Given the description of an element on the screen output the (x, y) to click on. 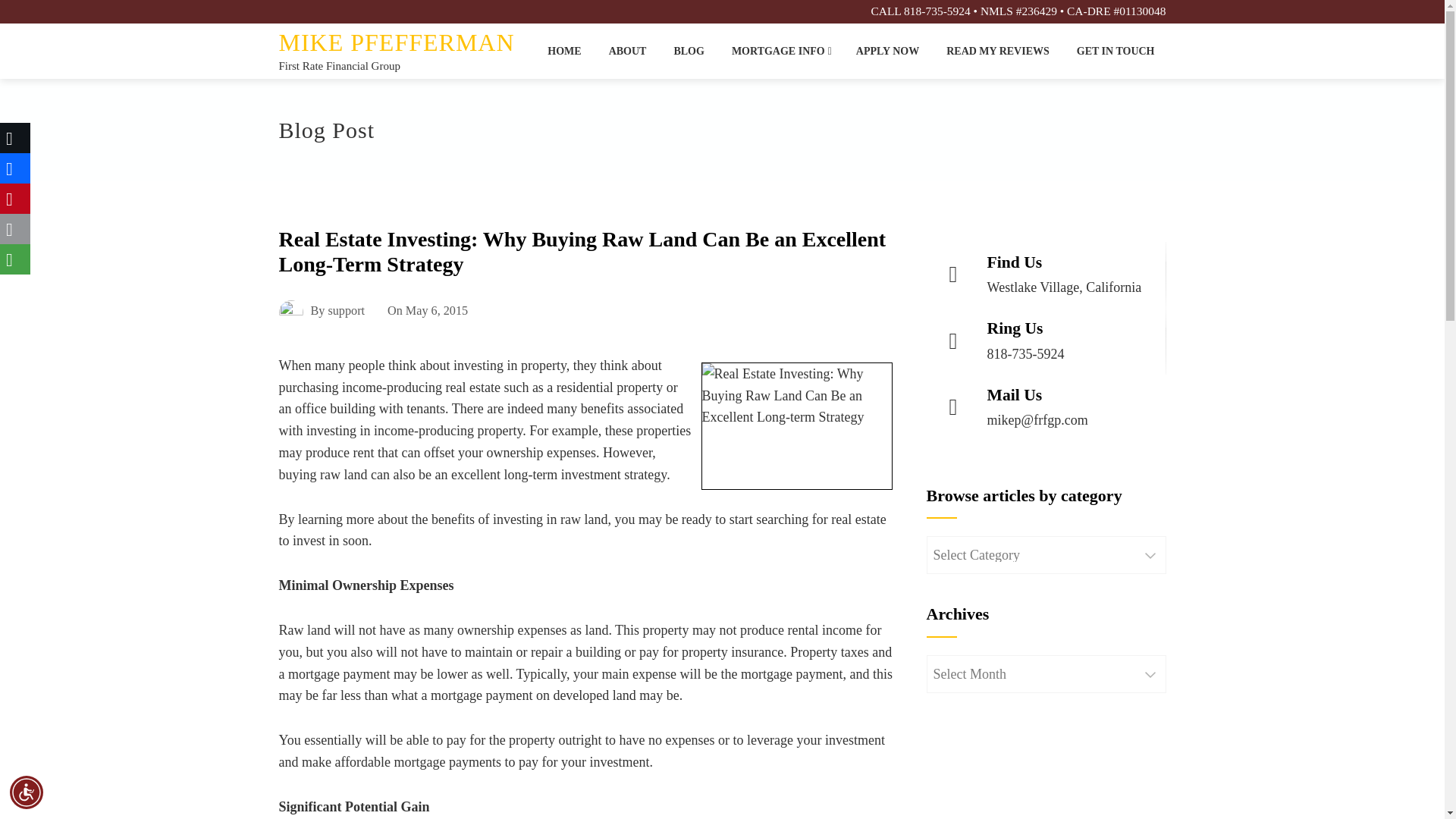
READ MY REVIEWS (997, 50)
Facebook (15, 168)
MIKE PFEFFERMAN (397, 42)
APPLY NOW (887, 50)
GET IN TOUCH (1115, 50)
More Options (15, 259)
Pinterest (15, 198)
ABOUT (627, 50)
Email This (15, 228)
First Rate Financial Group (339, 65)
Accessibility Menu (26, 792)
BLOG (688, 50)
HOME (563, 50)
MORTGAGE INFO (780, 50)
